Given the description of an element on the screen output the (x, y) to click on. 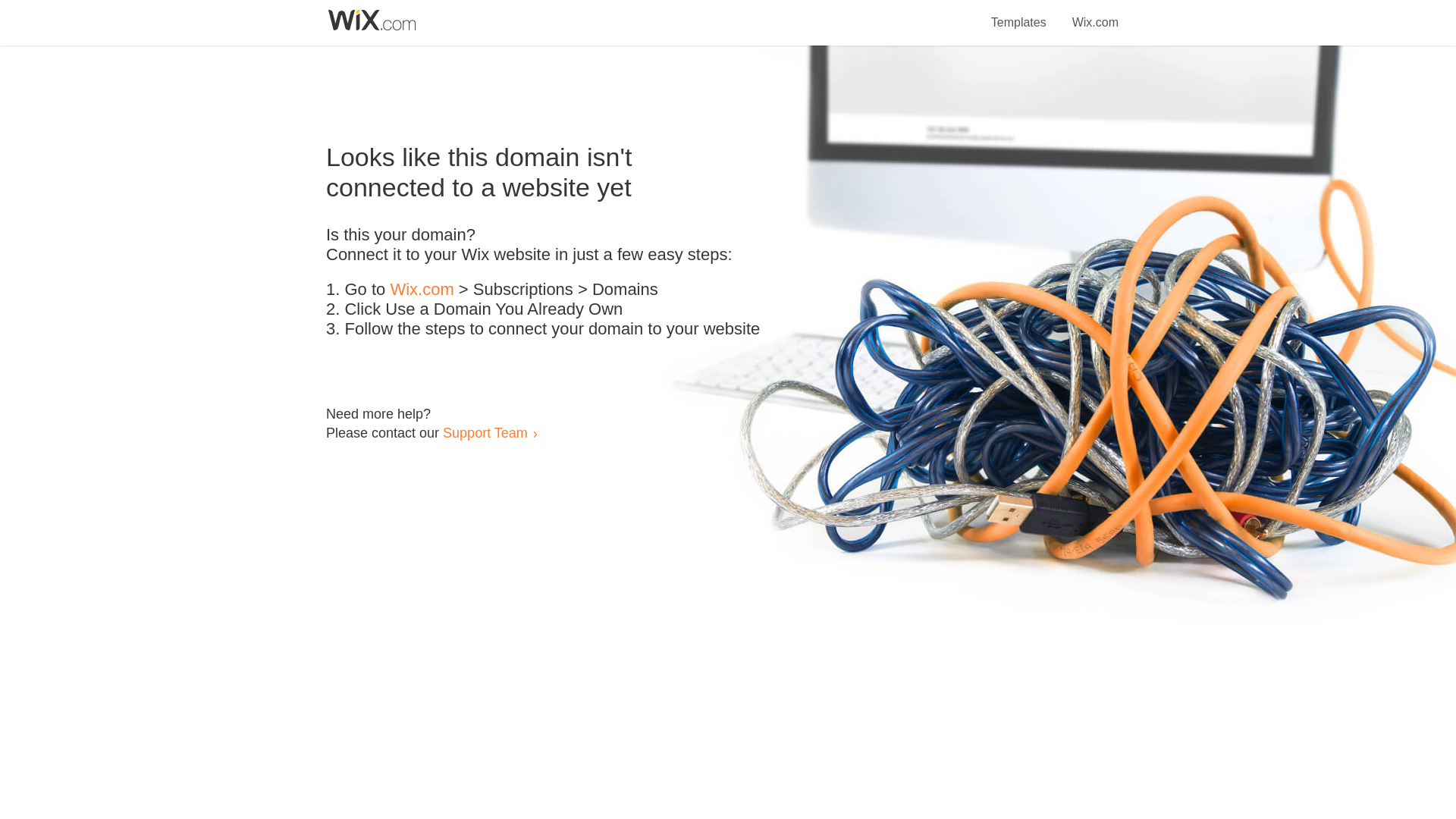
Wix.com (421, 289)
Support Team (484, 432)
Wix.com (1095, 14)
Templates (1018, 14)
